Given the description of an element on the screen output the (x, y) to click on. 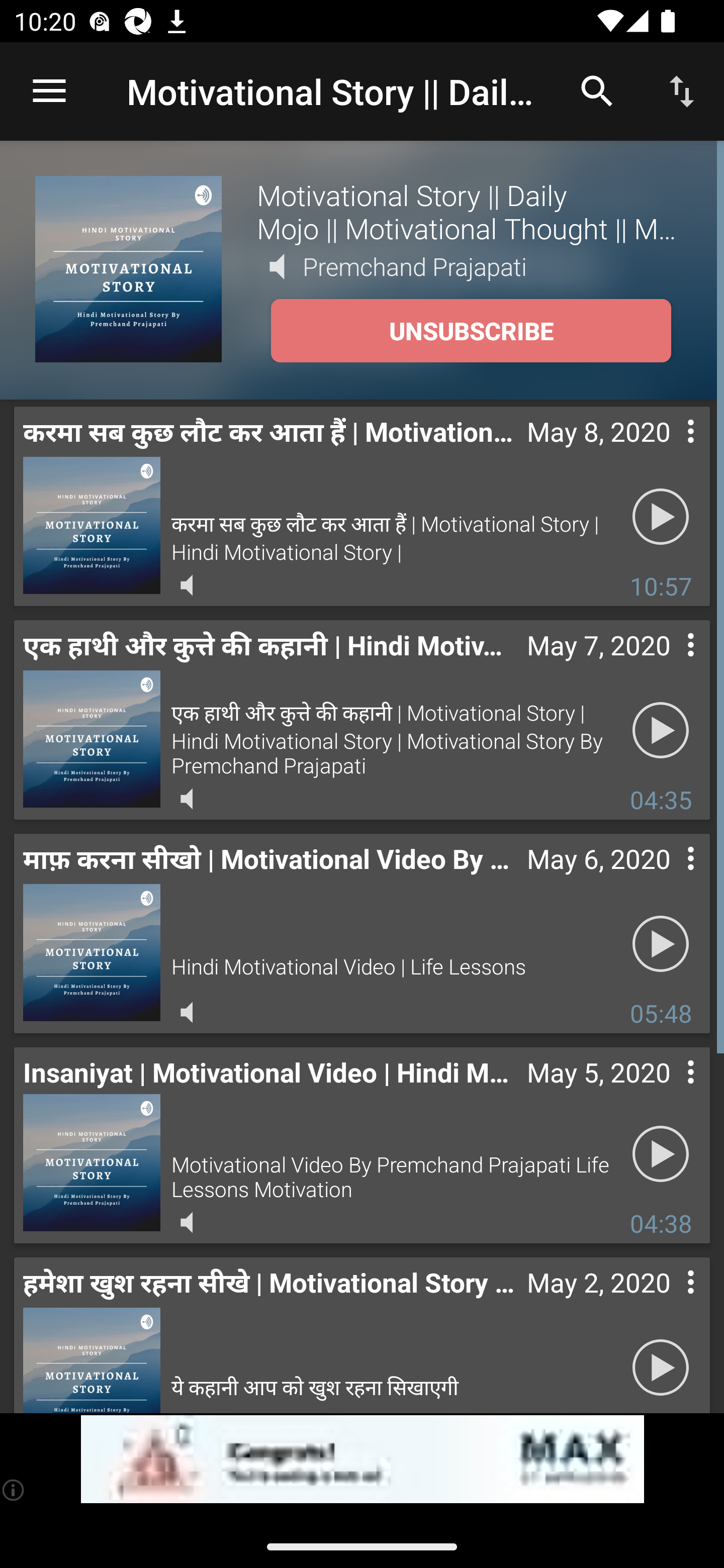
Open navigation sidebar (49, 91)
Search (597, 90)
Sort (681, 90)
UNSUBSCRIBE (470, 330)
Contextual menu (668, 451)
Play (660, 516)
Contextual menu (668, 665)
Play (660, 729)
Contextual menu (668, 878)
Play (660, 943)
Contextual menu (668, 1091)
Play (660, 1152)
Contextual menu (668, 1301)
Play (660, 1365)
app-monetization (362, 1459)
(i) (14, 1489)
